Given the description of an element on the screen output the (x, y) to click on. 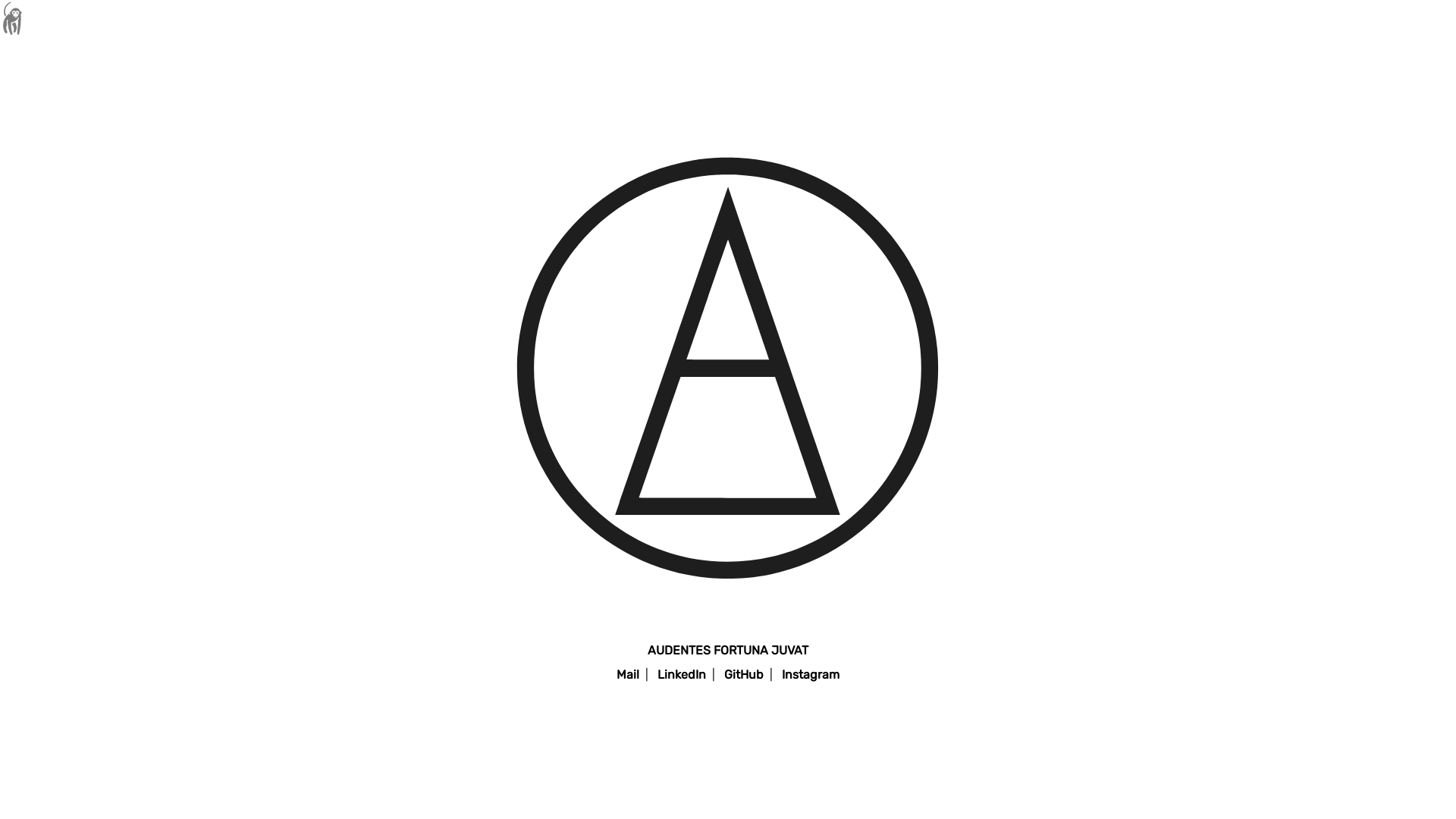
LinkedIn Element type: text (681, 674)
Instagram Element type: text (810, 674)
Mail Element type: text (627, 674)
GitHub Element type: text (743, 674)
